Given the description of an element on the screen output the (x, y) to click on. 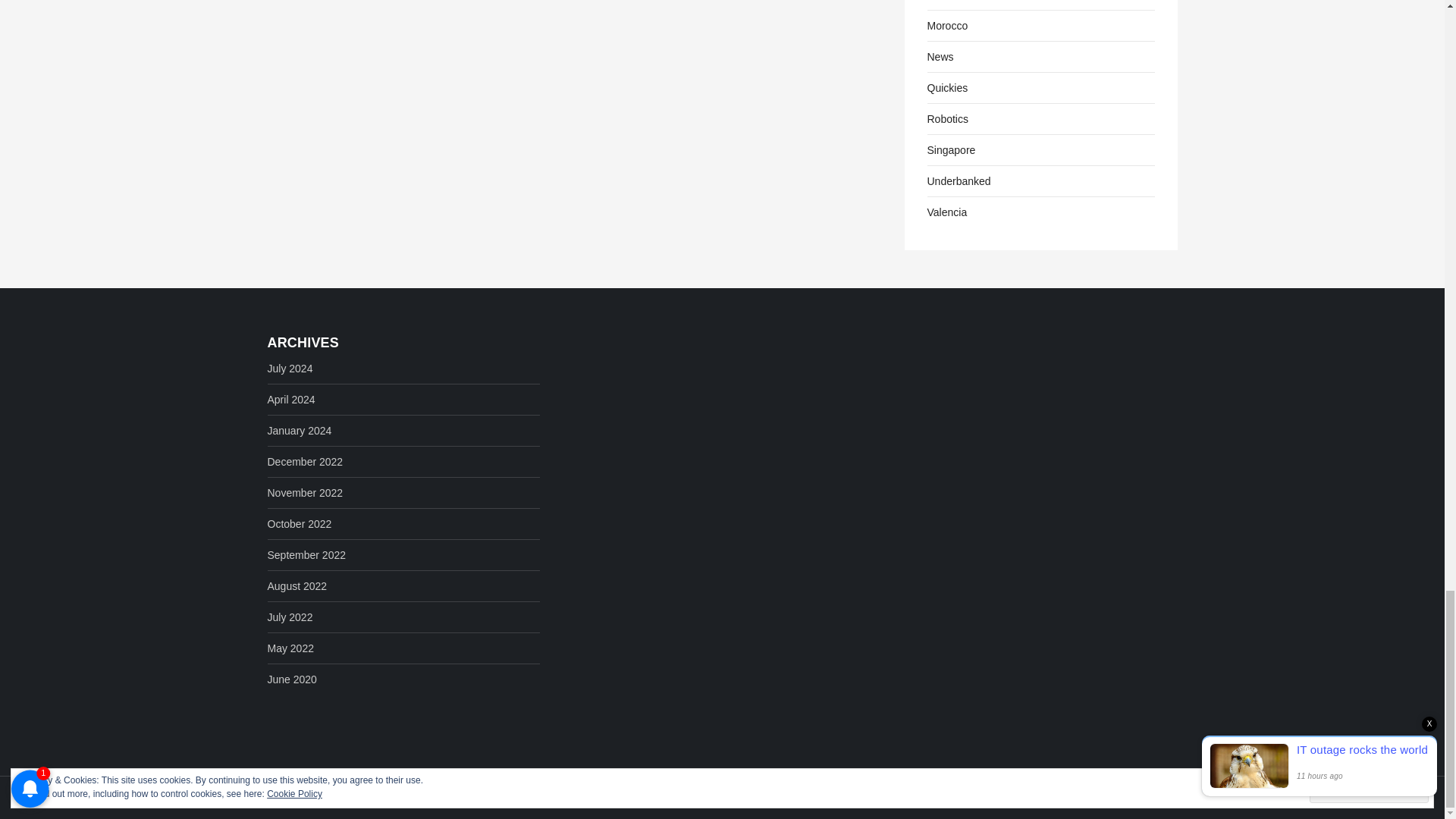
portugal (942, 2)
